Given the description of an element on the screen output the (x, y) to click on. 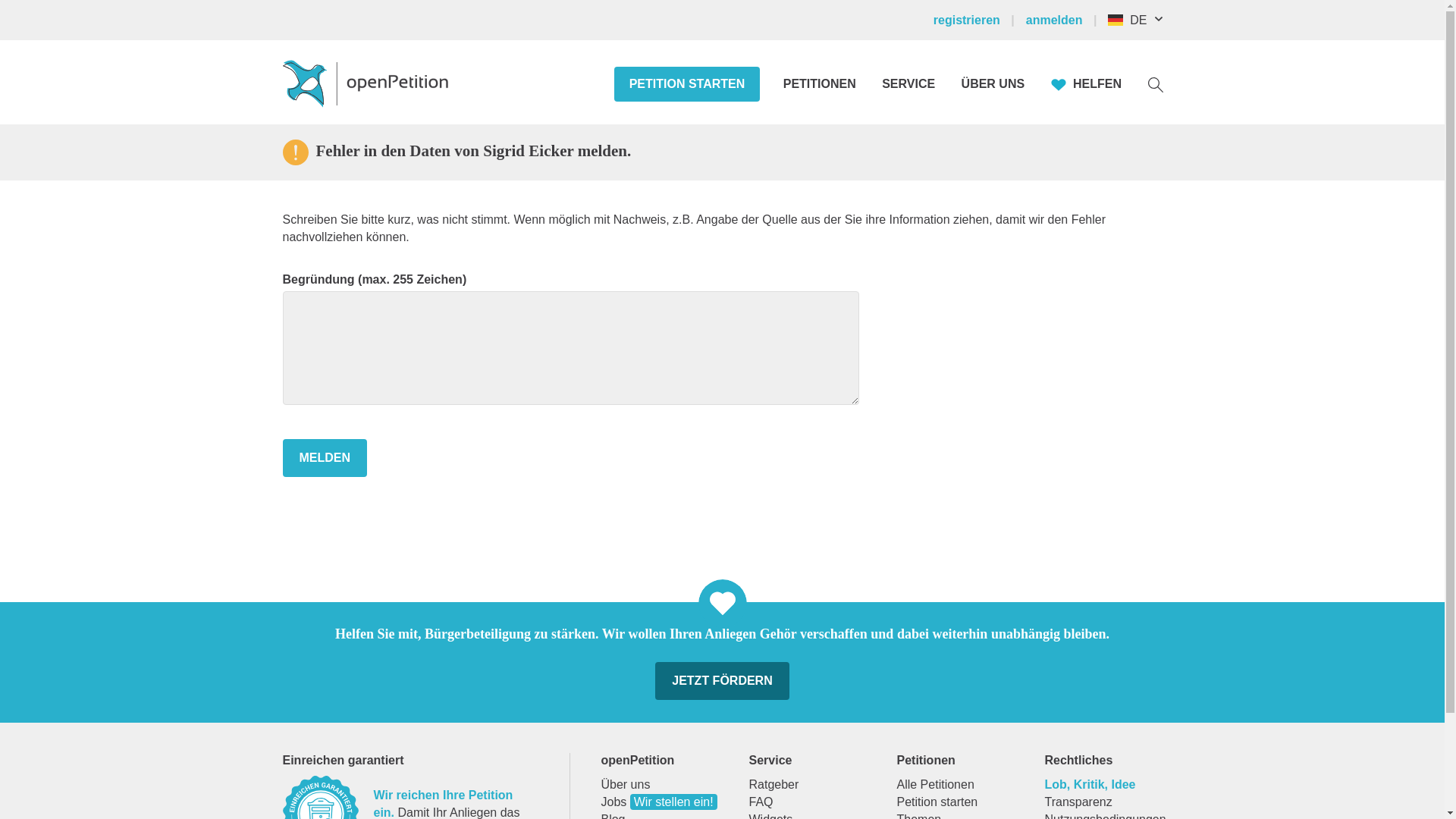
anmelden (1063, 19)
  DE (1142, 19)
registrieren (977, 19)
Melden (324, 457)
